Given the description of an element on the screen output the (x, y) to click on. 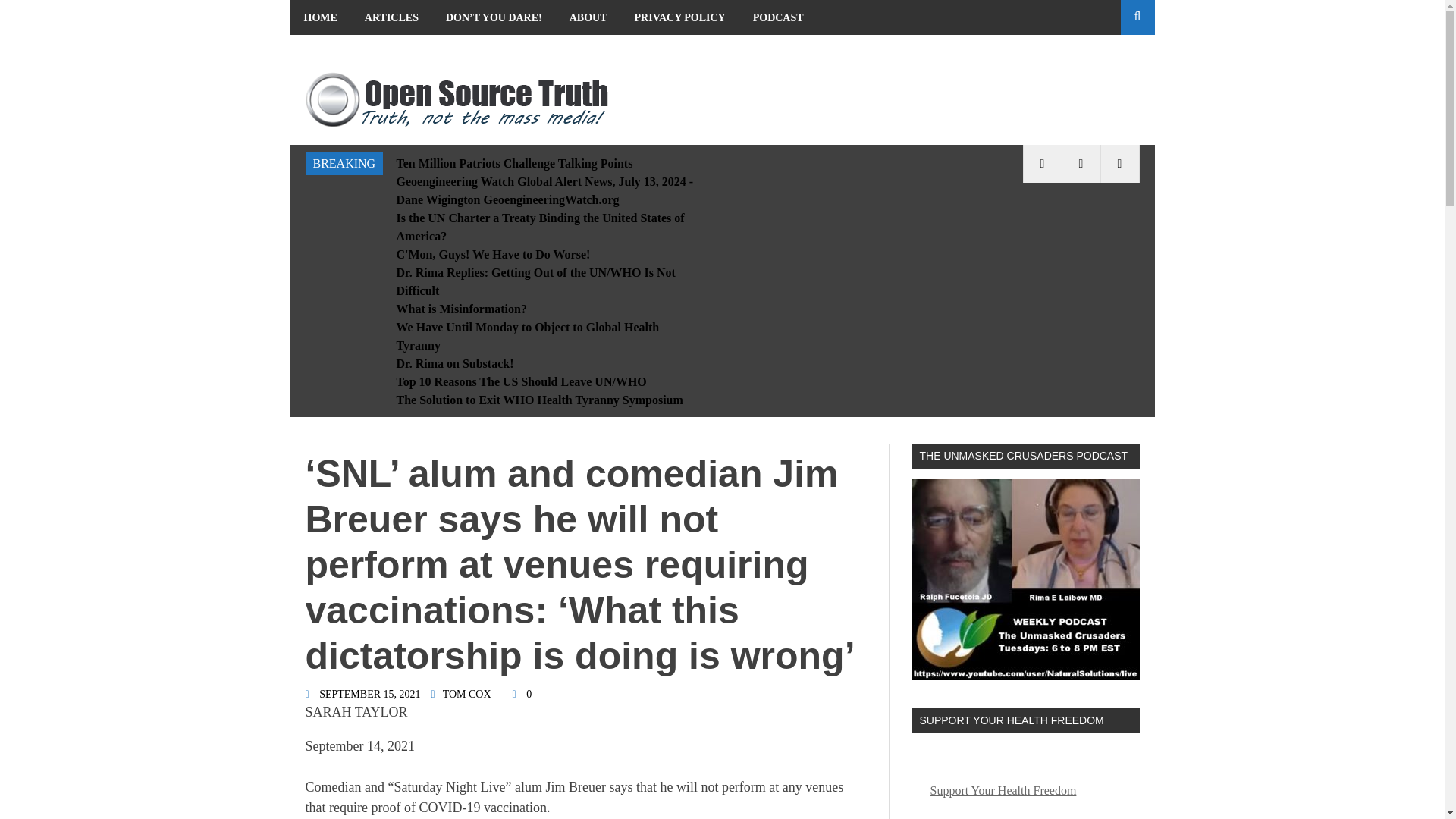
What is Misinformation? (460, 308)
Dr. Rima on Substack! (454, 363)
Ten Million Patriots Challenge Talking Points (513, 163)
ARTICLES (391, 17)
ABOUT (588, 17)
We Have Until Monday to Object to Global Health Tyranny (527, 336)
MEMES (322, 52)
The Unmasked Crusaders Weekly Podcast (1024, 579)
C'Mon, Guys! We Have to Do Worse! (492, 254)
PRIVACY POLICY (680, 17)
HOME (319, 17)
PODCAST (777, 17)
The Solution to Exit WHO Health Tyranny Symposium (539, 399)
